Given the description of an element on the screen output the (x, y) to click on. 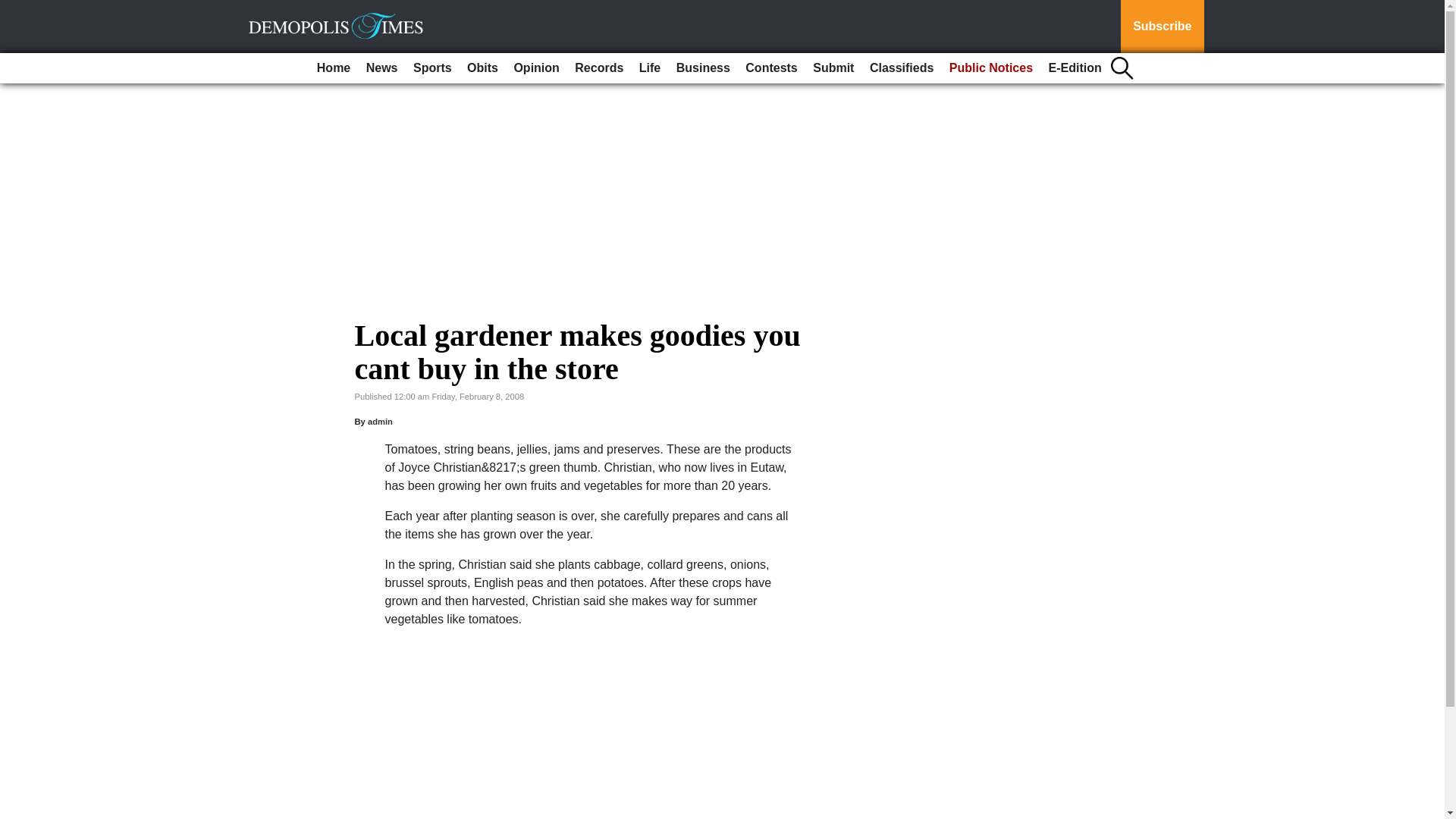
Records (598, 68)
Go (13, 9)
Business (702, 68)
Submit (833, 68)
Classifieds (901, 68)
Public Notices (991, 68)
Subscribe (1162, 26)
E-Edition (1075, 68)
Home (333, 68)
News (381, 68)
